Given the description of an element on the screen output the (x, y) to click on. 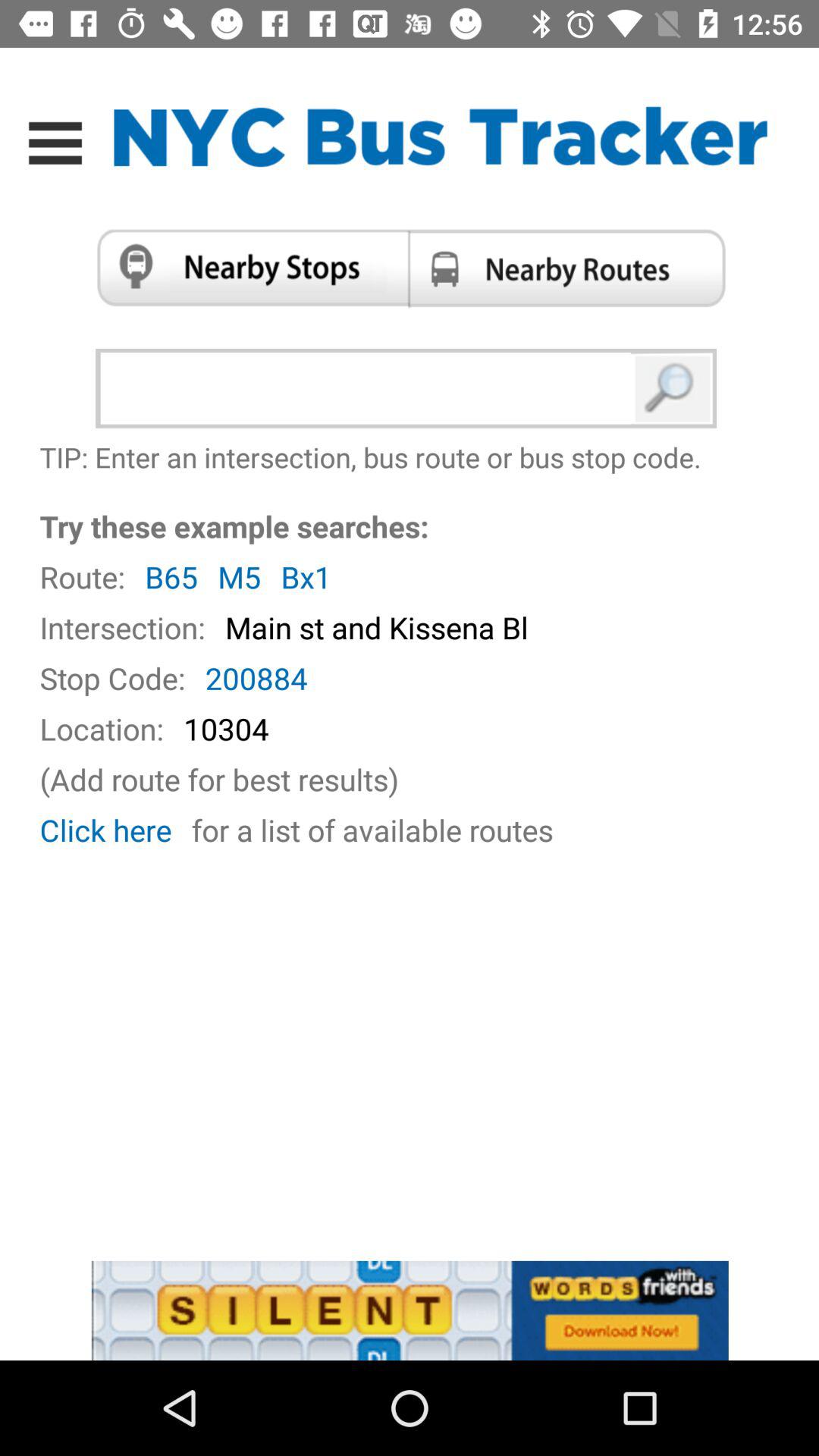
nearby routes button (571, 267)
